Given the description of an element on the screen output the (x, y) to click on. 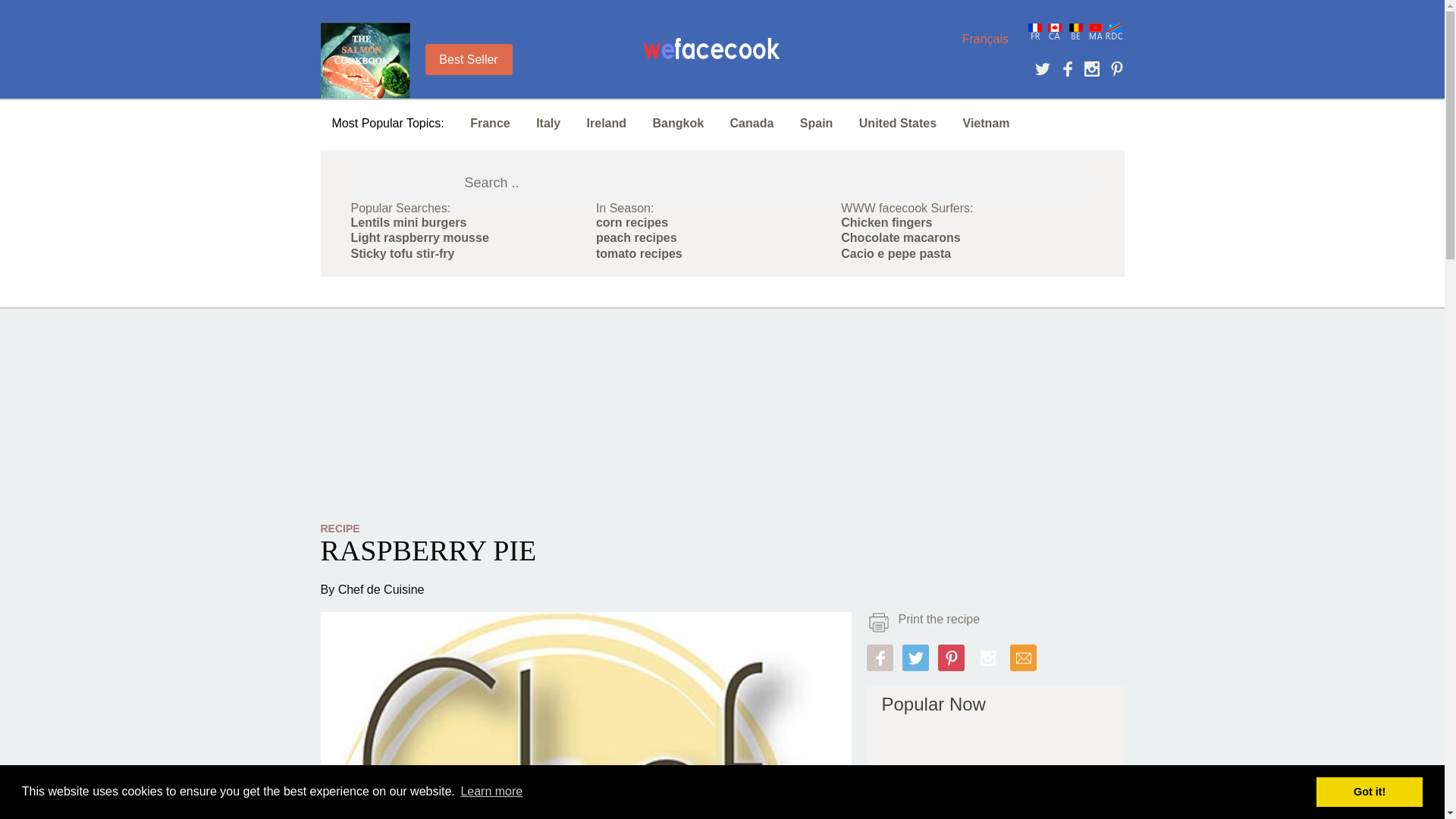
Chicken fingers (886, 222)
Spain (815, 123)
United States (897, 123)
Lentils mini burgers (407, 222)
Learn more (491, 791)
Sticky tofu stir-fry (402, 253)
corn recipes (631, 222)
Vietnam (986, 123)
Canada (752, 123)
Cooking (711, 51)
Got it! (1369, 791)
Advertisement (994, 778)
Bangkok (678, 123)
France (489, 123)
Ireland (606, 123)
